Given the description of an element on the screen output the (x, y) to click on. 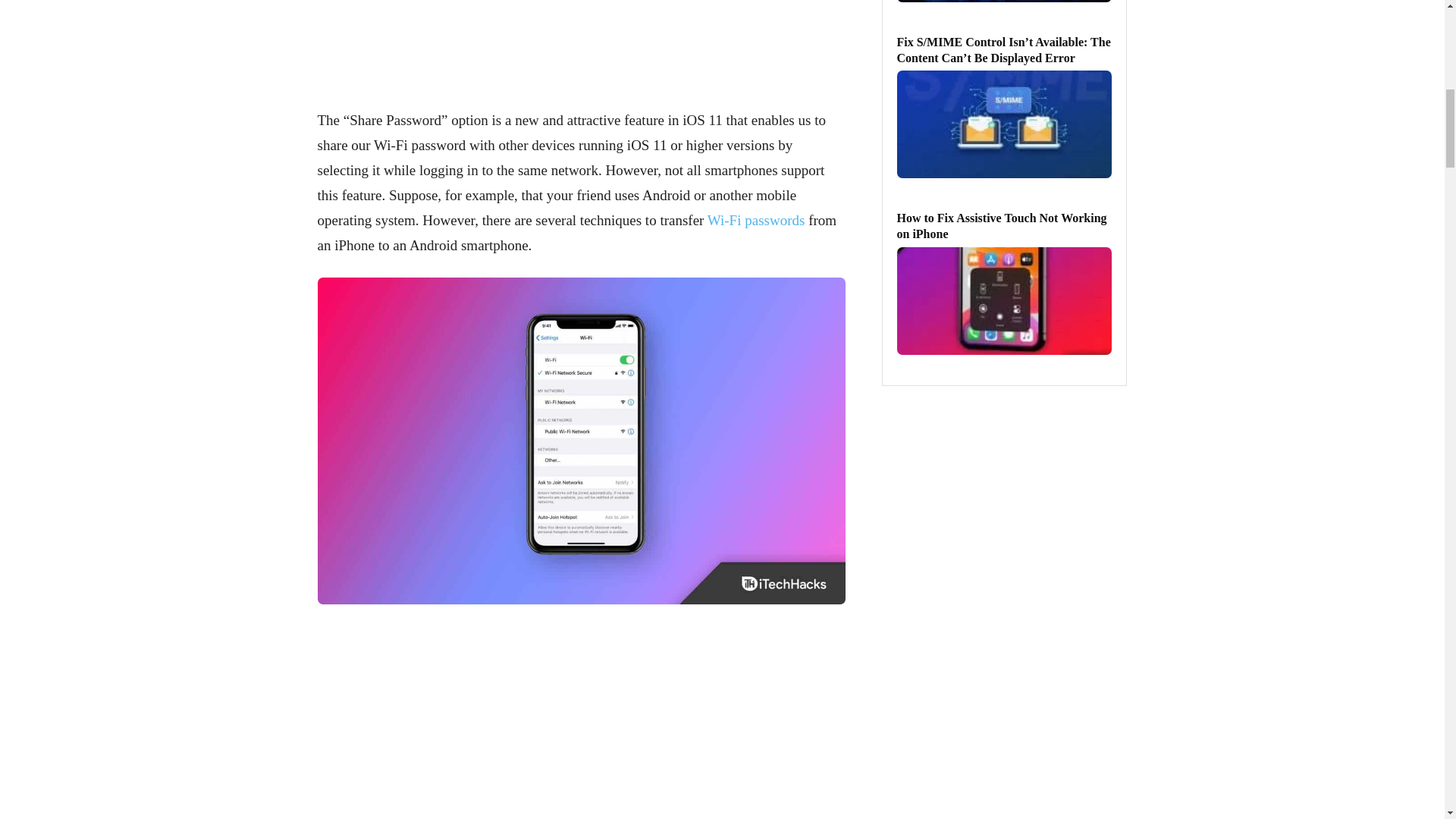
Wi-Fi passwords (756, 220)
